Given the description of an element on the screen output the (x, y) to click on. 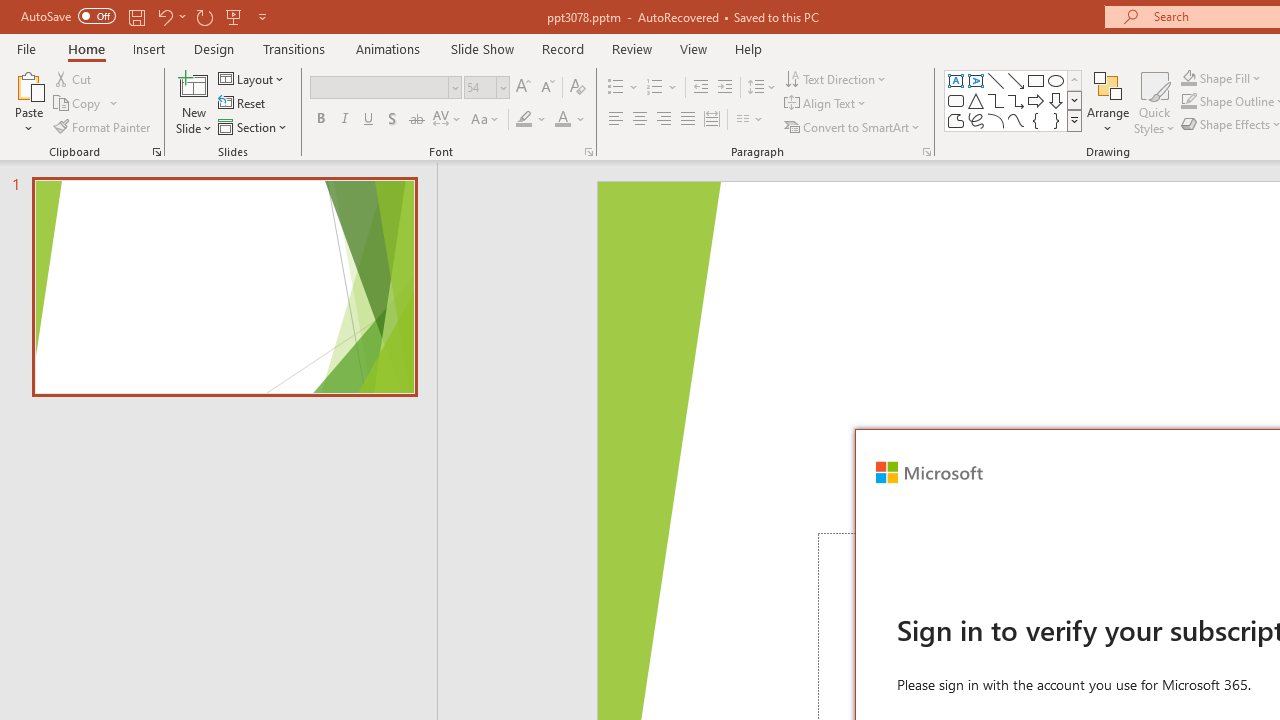
Center (639, 119)
Office Clipboard... (156, 151)
Arrange (1108, 102)
Format Painter (103, 126)
Italic (344, 119)
Text Highlight Color Yellow (524, 119)
Reset (243, 103)
Paragraph... (926, 151)
Font... (588, 151)
Justify (687, 119)
